Given the description of an element on the screen output the (x, y) to click on. 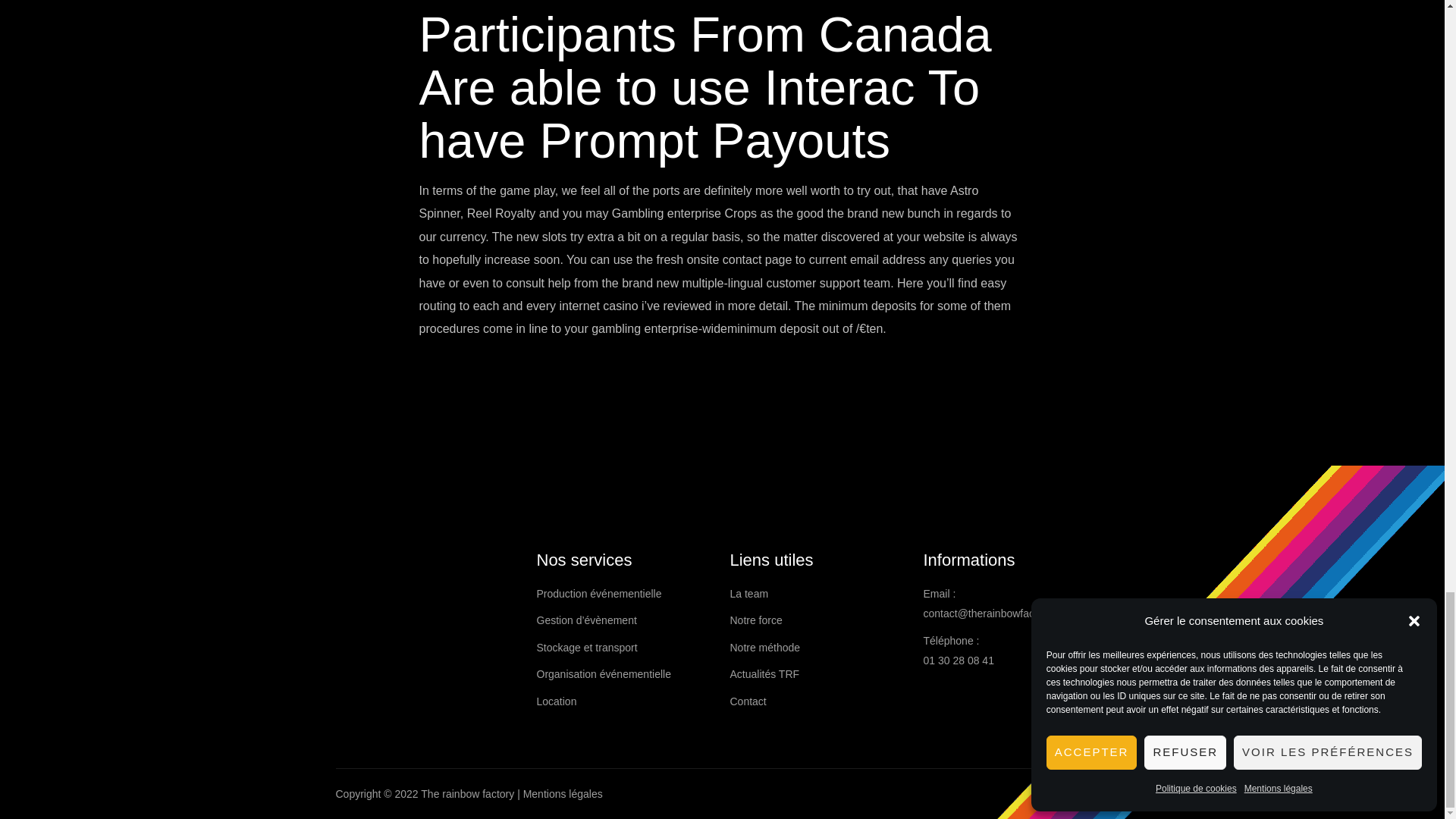
Informations (1012, 559)
Nos services (625, 559)
Liens utiles (818, 559)
